Given the description of an element on the screen output the (x, y) to click on. 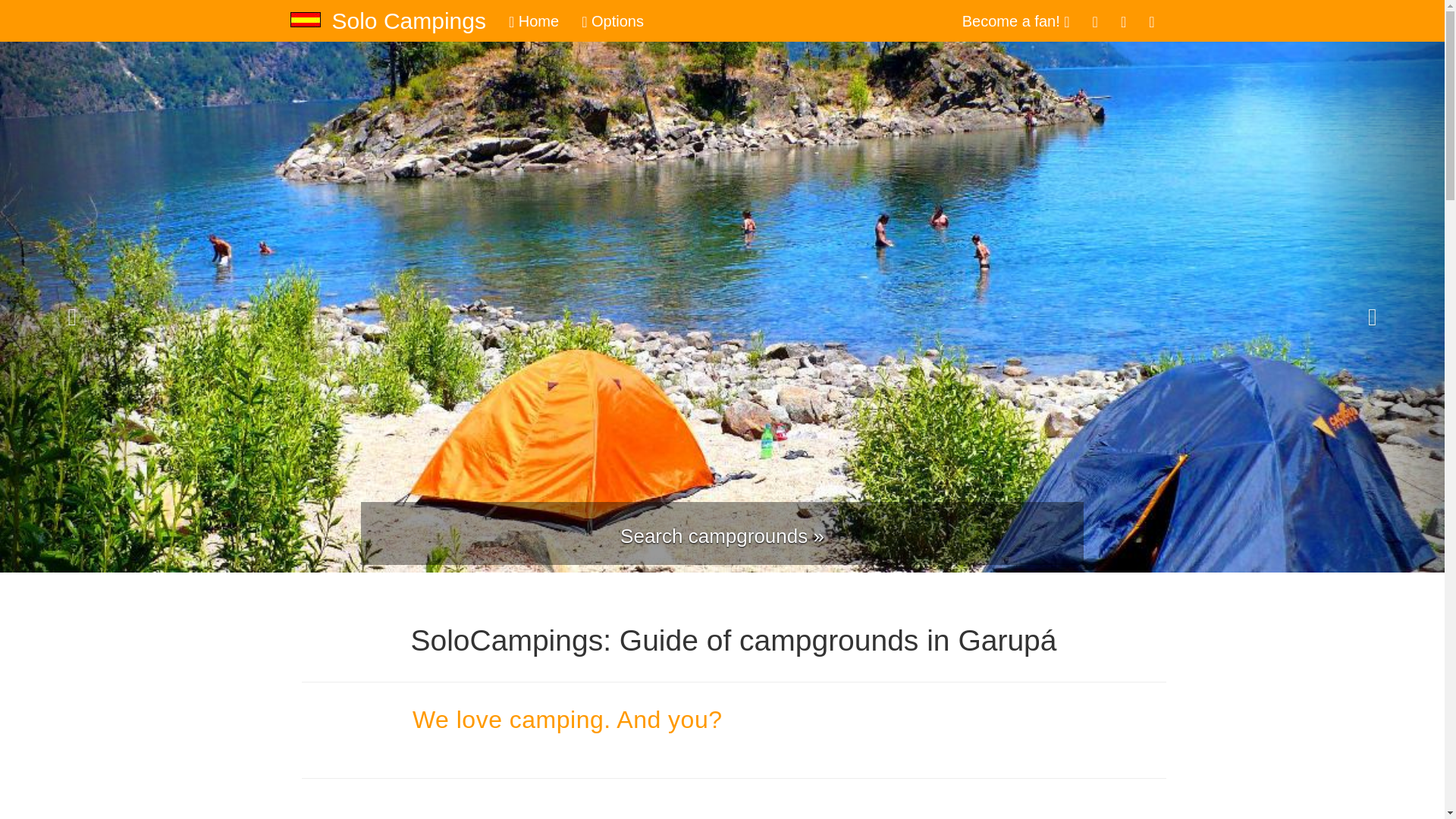
Options (612, 20)
Become a fan! (1015, 20)
Solo Campings (408, 20)
Home (533, 20)
